Given the description of an element on the screen output the (x, y) to click on. 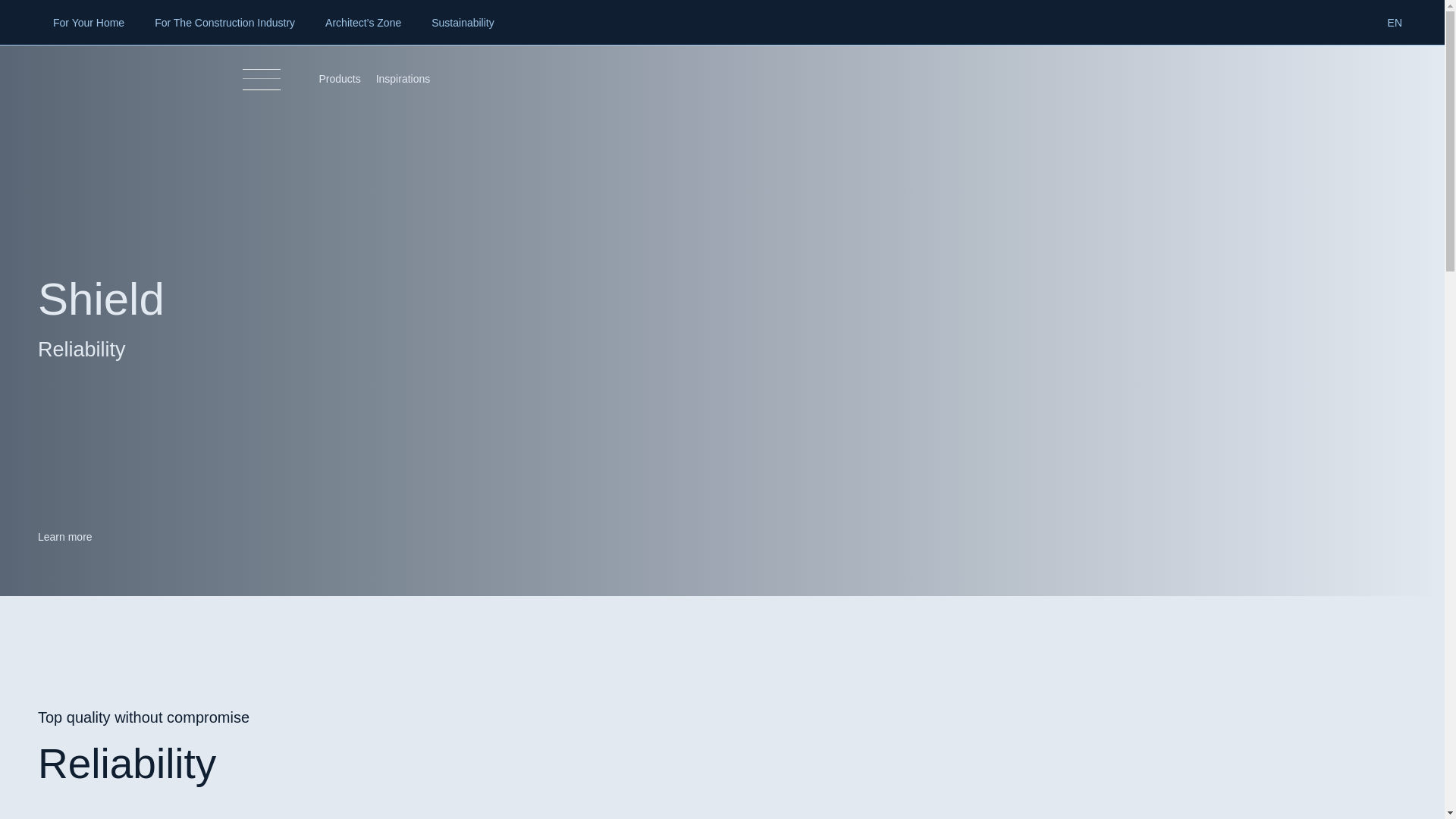
Inspirations (402, 79)
Sustainability (462, 22)
EN (1394, 22)
EN (1394, 22)
For Your Home (88, 22)
Products (338, 79)
For The Construction Industry (224, 22)
